Given the description of an element on the screen output the (x, y) to click on. 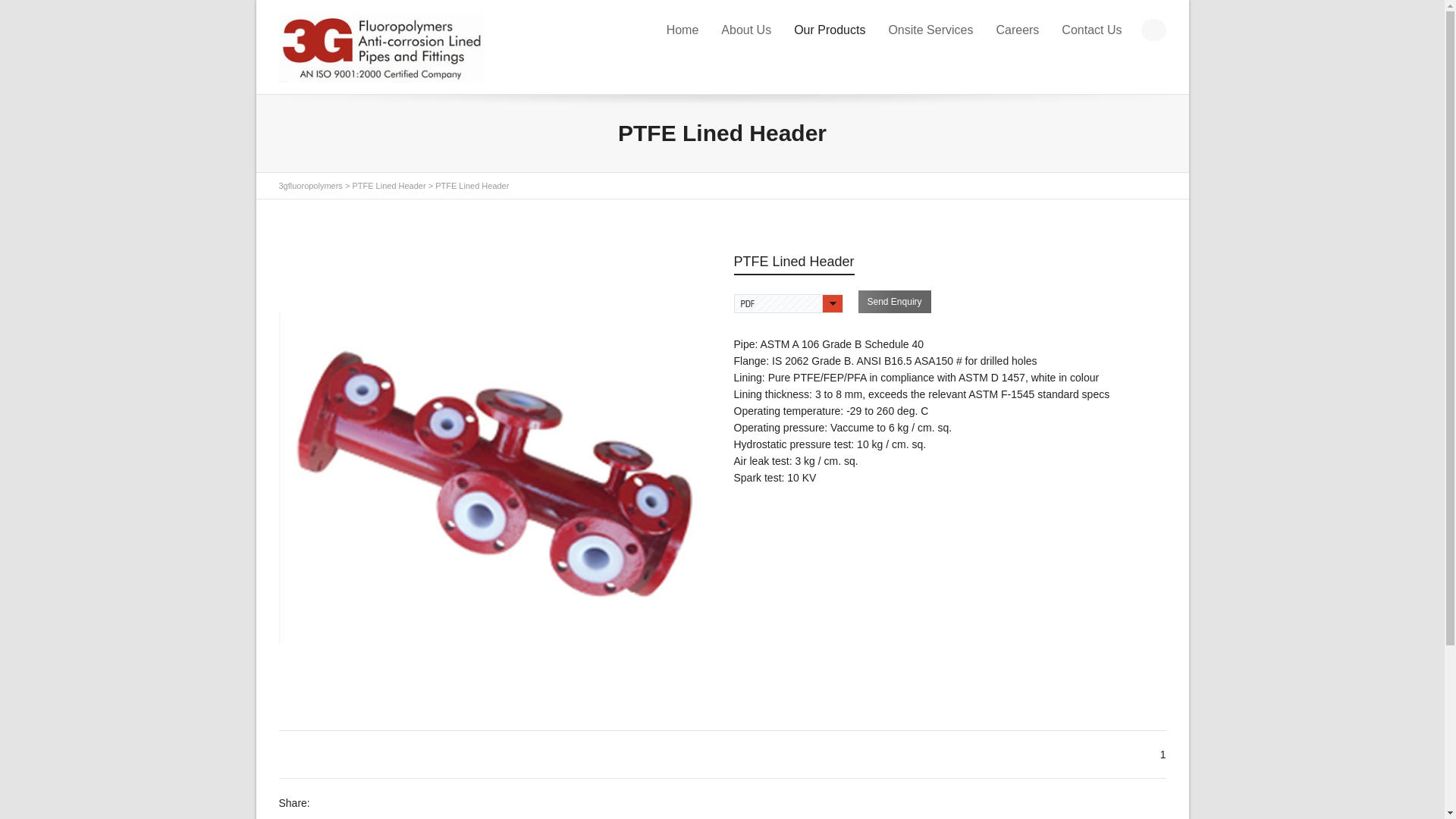
Our Products Element type: text (829, 30)
Send Enquiry Element type: text (894, 301)
Contact Us Element type: text (1091, 30)
About Us Element type: text (746, 30)
Onsite Services Element type: text (930, 30)
Share by Email Element type: hover (371, 803)
3gfluoropolymers Element type: text (310, 185)
Careers Element type: text (1016, 30)
PTFE Lined Header Element type: text (388, 185)
lined-header Element type: hover (495, 468)
Home Element type: text (682, 30)
